Given the description of an element on the screen output the (x, y) to click on. 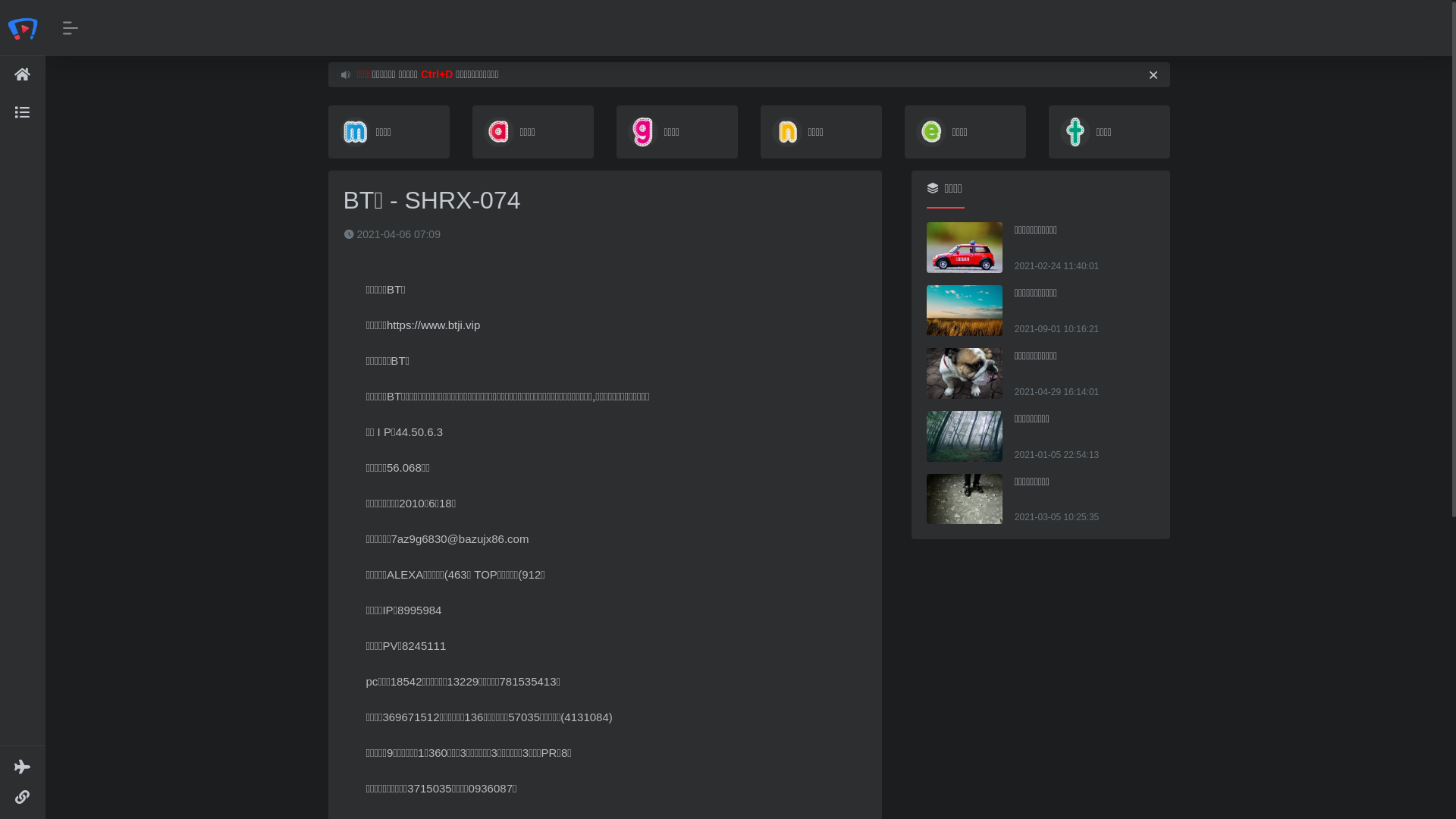
https://www.btji.vip Element type: text (433, 324)
